Given the description of an element on the screen output the (x, y) to click on. 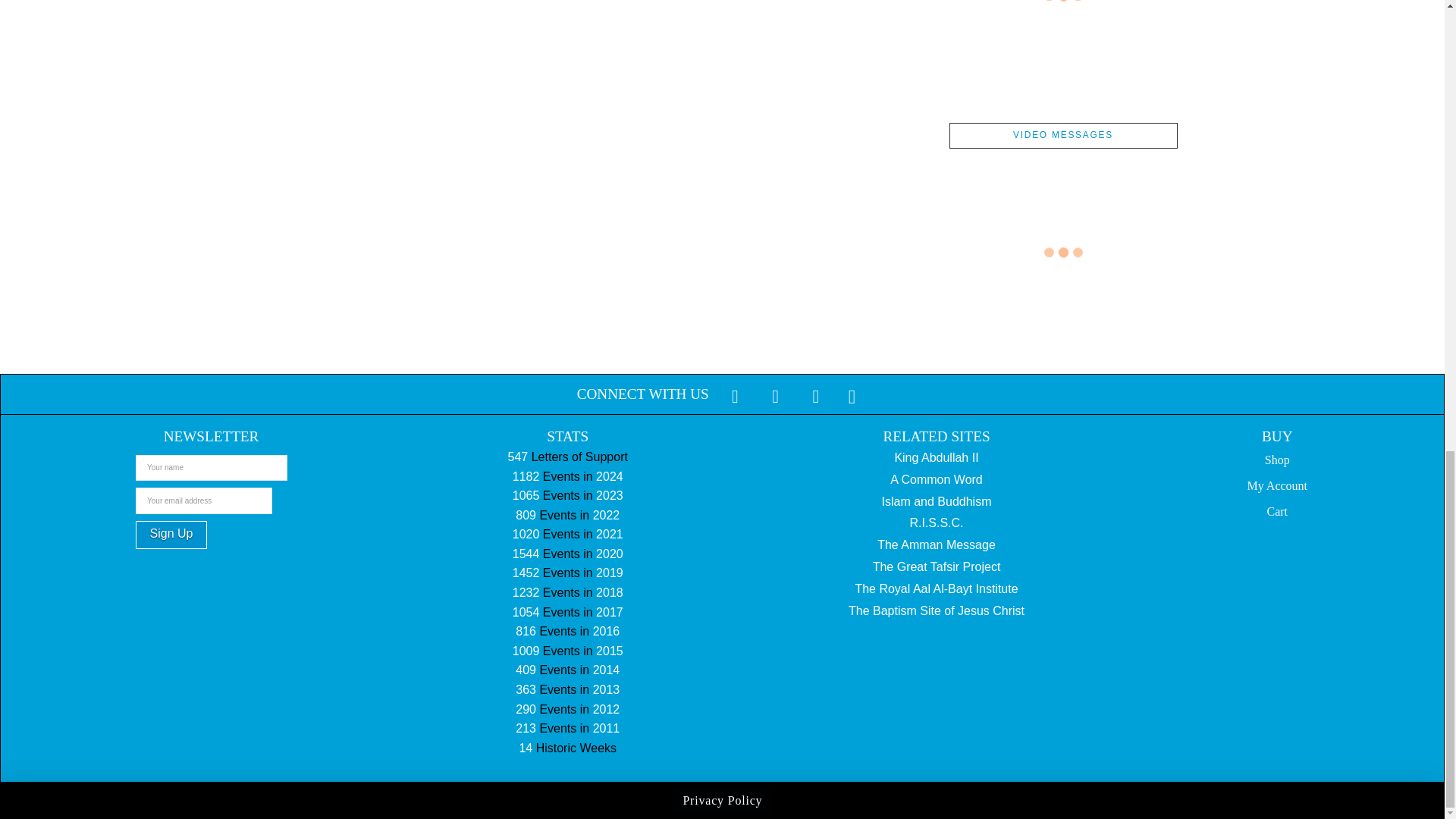
Permalink to: "Honour for Ghazi varsity dept" (1057, 417)
Sign Up (171, 534)
Permalink to: "The Interfaith Legacy of Pope Benedict" (1057, 133)
